Given the description of an element on the screen output the (x, y) to click on. 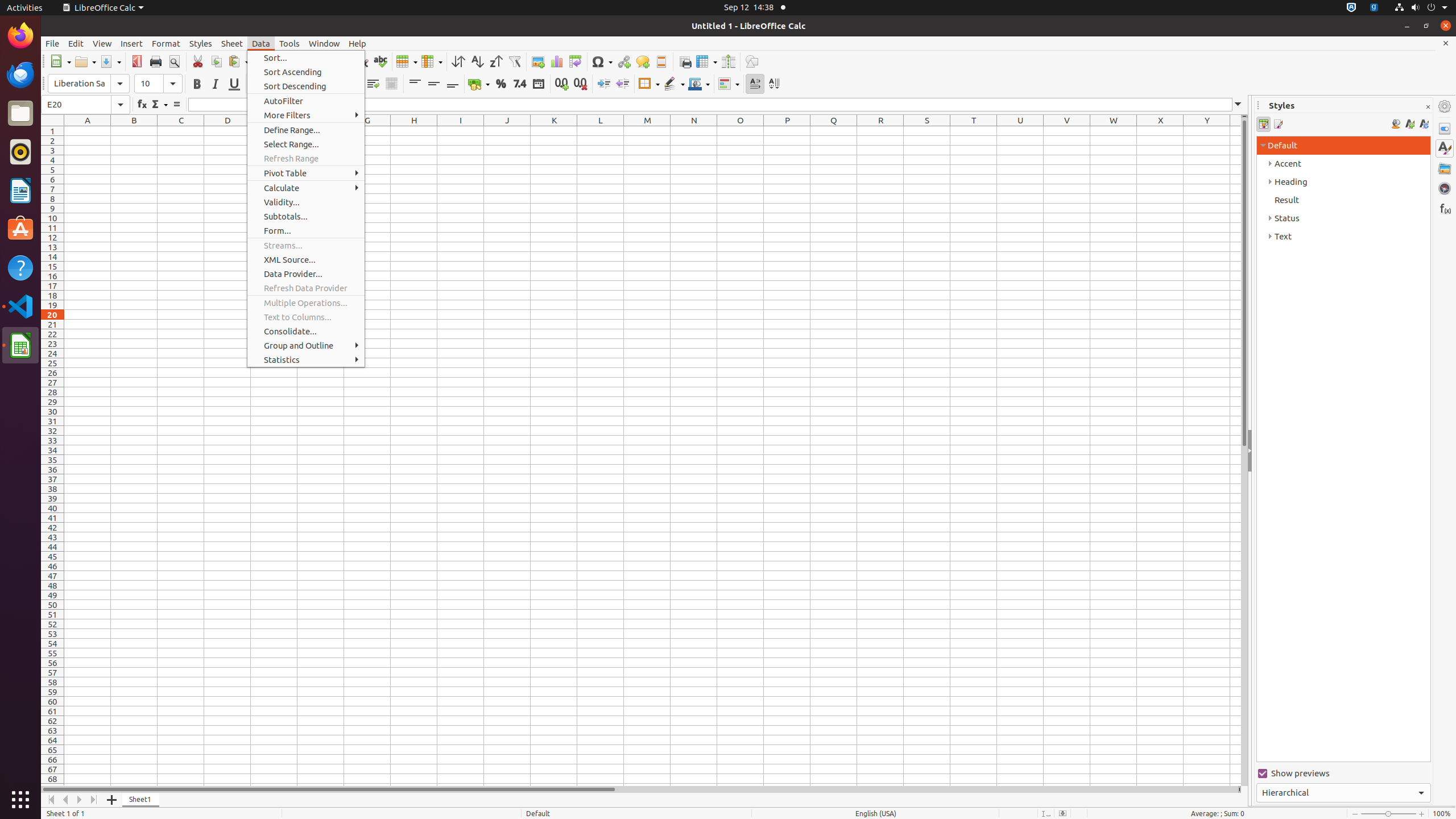
Select Function Element type: push-button (159, 104)
Page Styles Element type: push-button (1277, 123)
Draw Functions Element type: toggle-button (751, 61)
Underline Element type: push-button (233, 83)
Pivot Table Element type: push-button (574, 61)
